Given the description of an element on the screen output the (x, y) to click on. 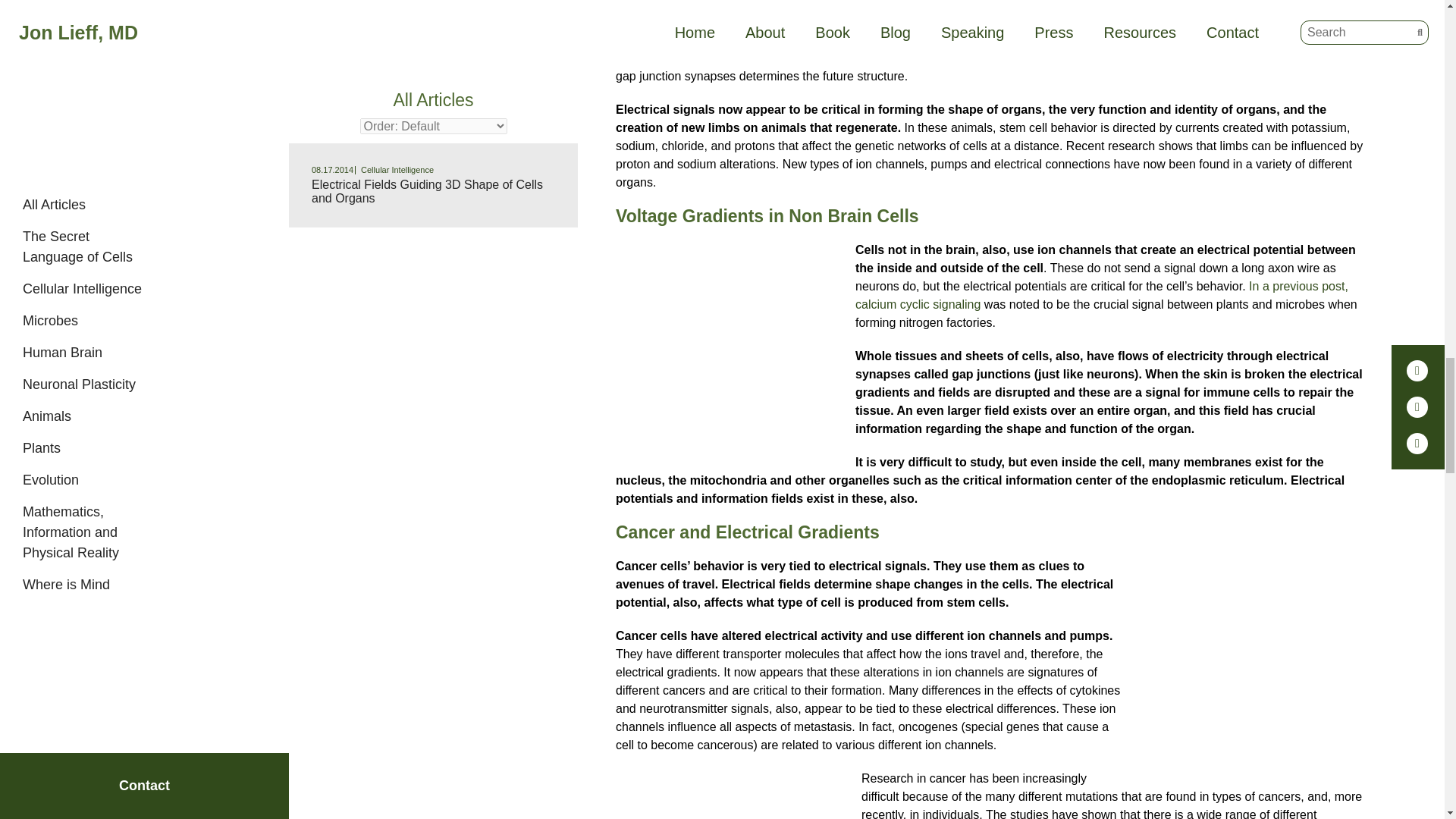
In a previous post, calcium cyclic signaling (1102, 295)
